Given the description of an element on the screen output the (x, y) to click on. 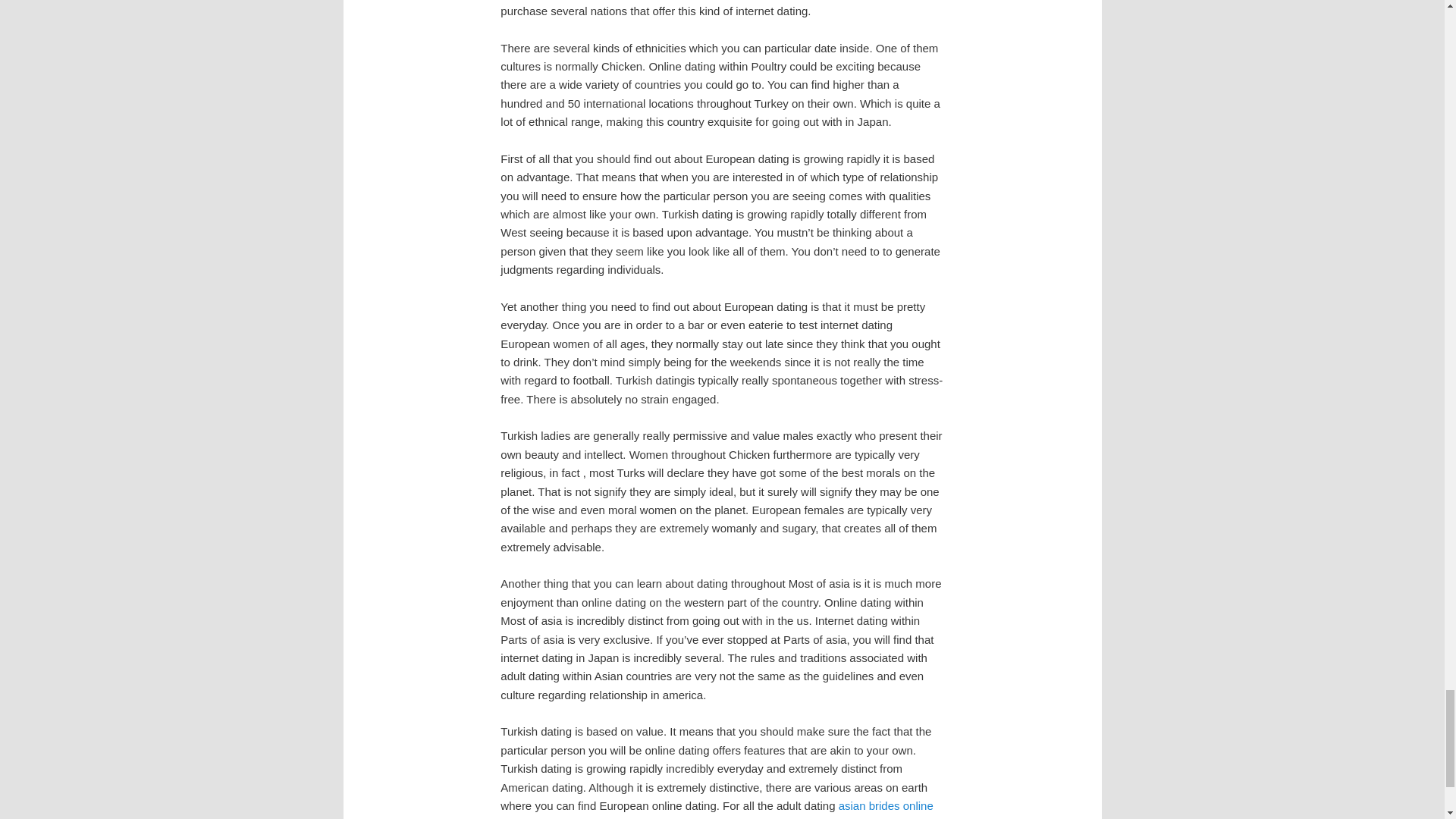
asian brides online reviews (716, 809)
